Given the description of an element on the screen output the (x, y) to click on. 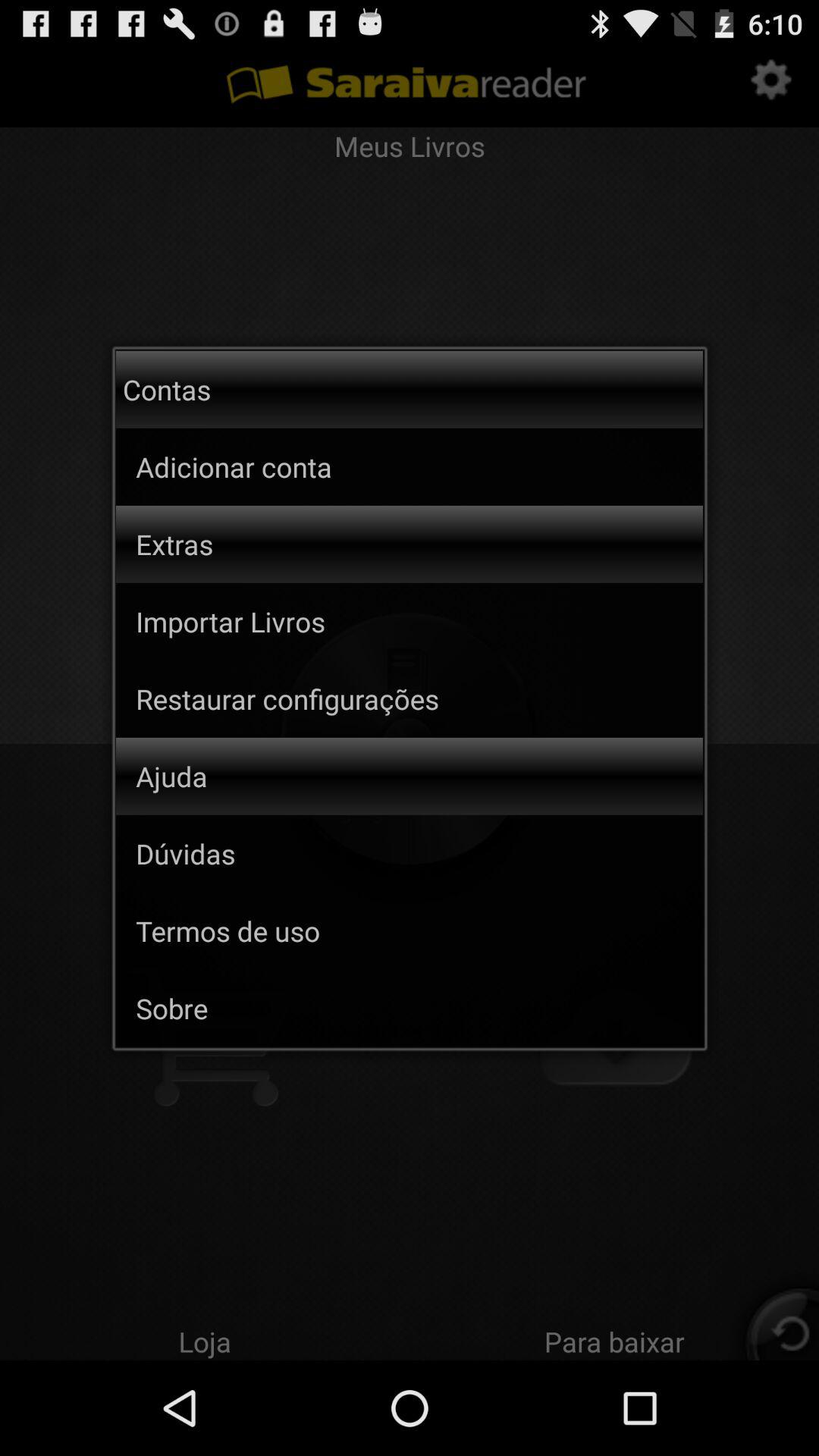
launch the item below the importar livros (418, 698)
